Given the description of an element on the screen output the (x, y) to click on. 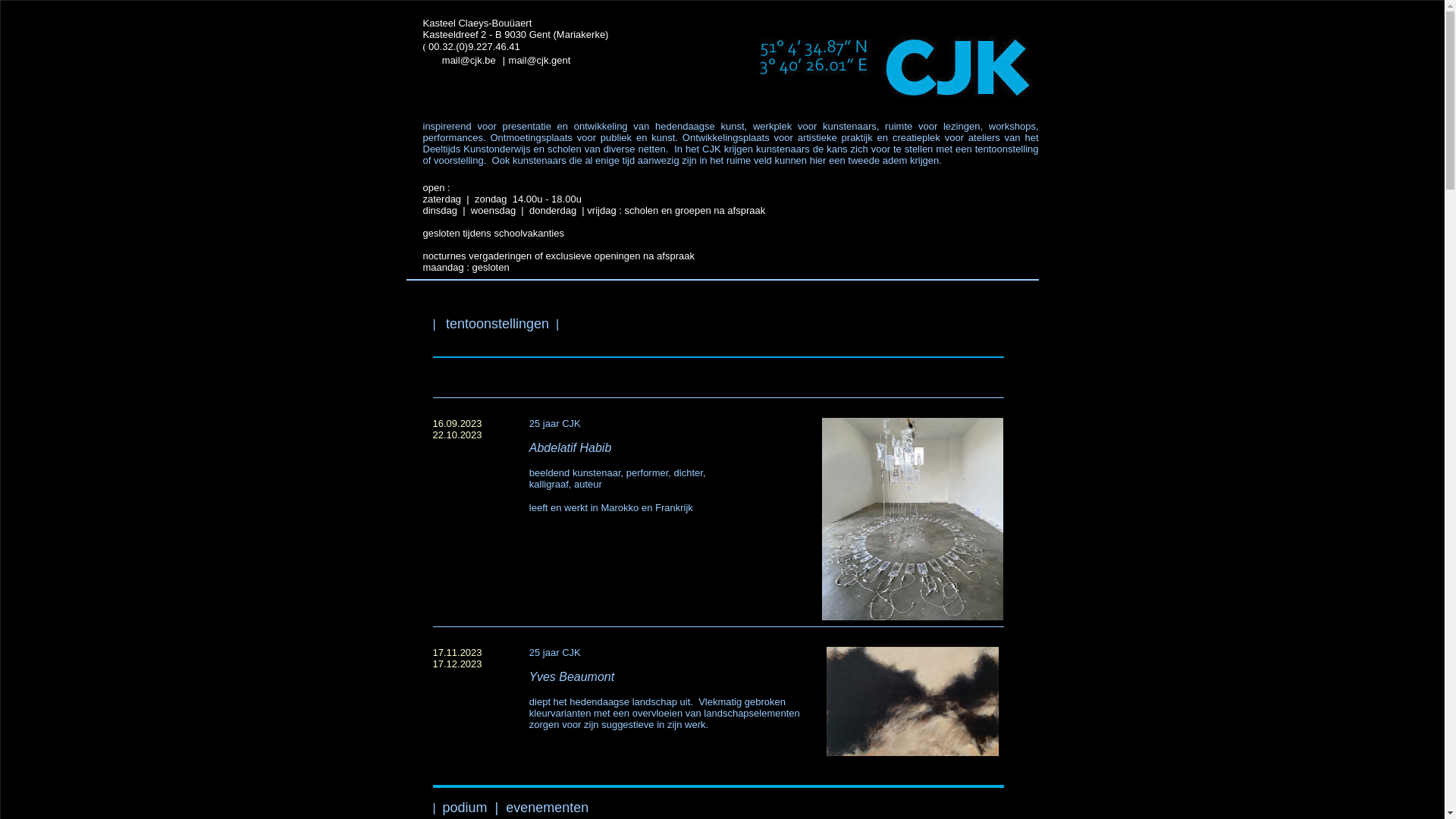
mail@cjk.be Element type: text (468, 59)
mail@cjk.gent Element type: text (539, 59)
